Given the description of an element on the screen output the (x, y) to click on. 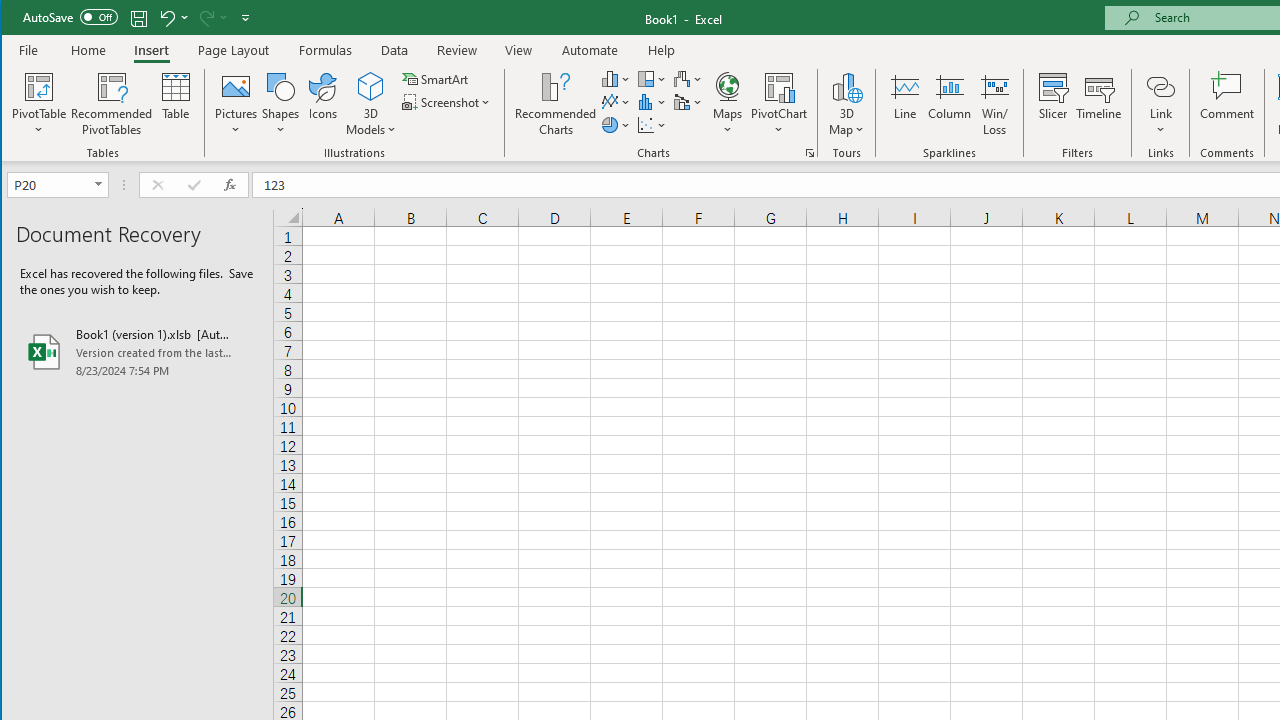
More Options (1160, 123)
Insert (151, 50)
Column (949, 104)
Formulas (326, 50)
Review (456, 50)
Recommended PivotTables (111, 104)
Slicer... (1052, 104)
Shapes (280, 104)
Automate (589, 50)
PivotChart (779, 104)
